Given the description of an element on the screen output the (x, y) to click on. 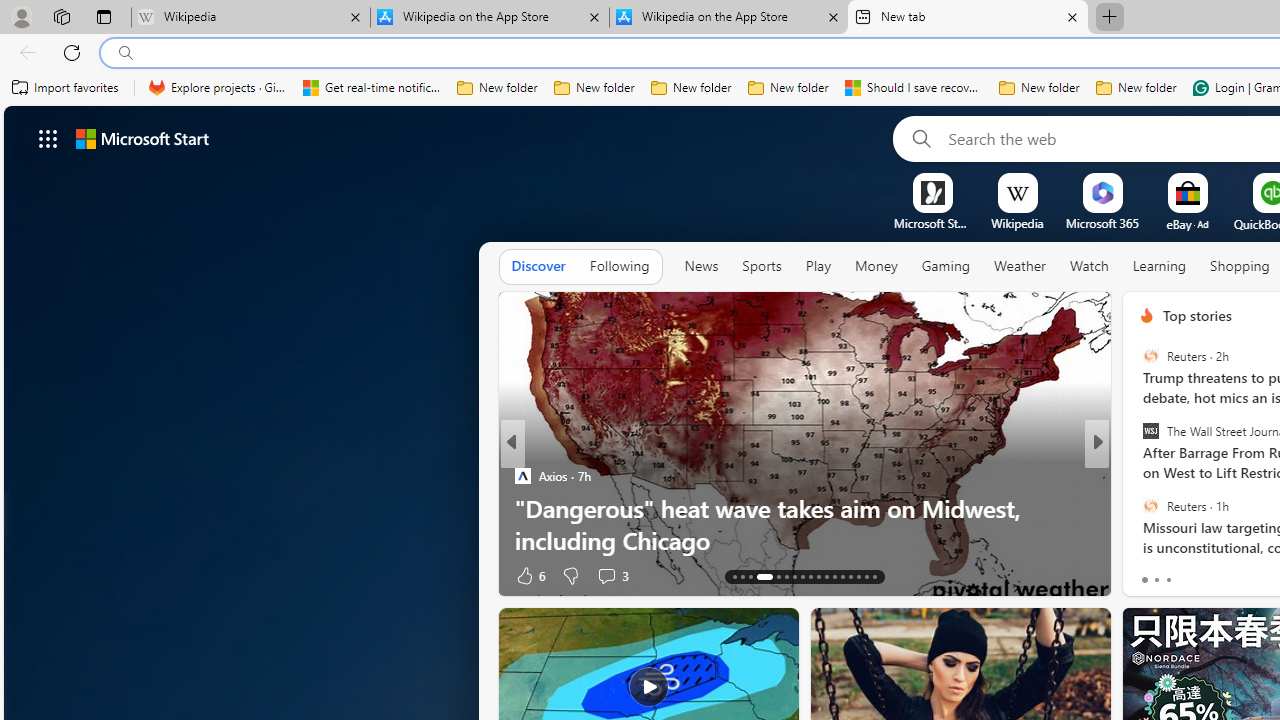
4 Frugal Secrets I Learned From My Grandparents (804, 539)
XDA Developers (1138, 475)
View comments 11 Comment (1234, 575)
tab-2 (1168, 579)
New York Tech (1138, 475)
Microsoft start (142, 138)
AutomationID: tab-19 (793, 576)
AutomationID: tab-17 (772, 576)
516 Like (1151, 574)
